Given the description of an element on the screen output the (x, y) to click on. 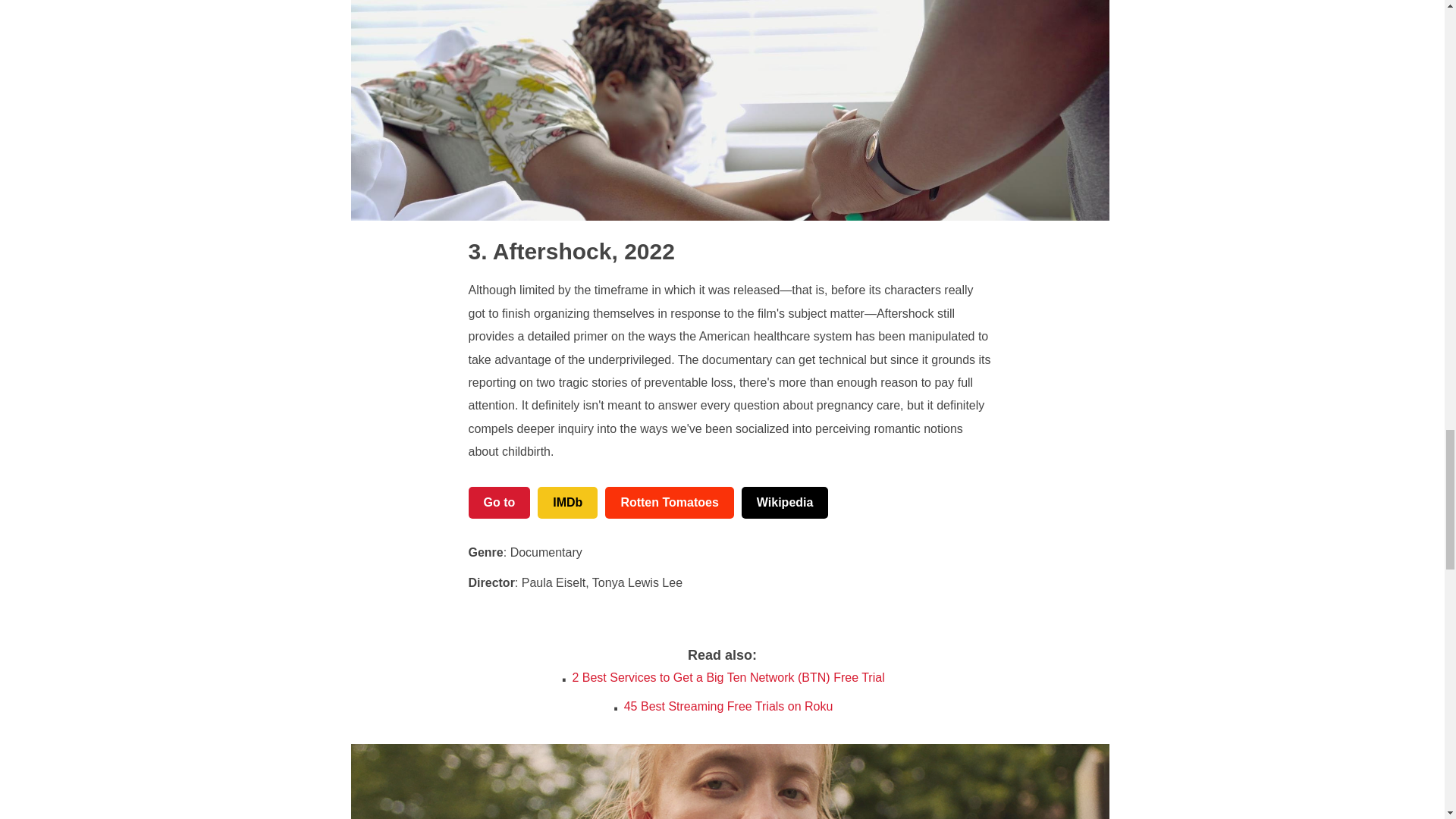
Aftershock (539, 251)
